Given the description of an element on the screen output the (x, y) to click on. 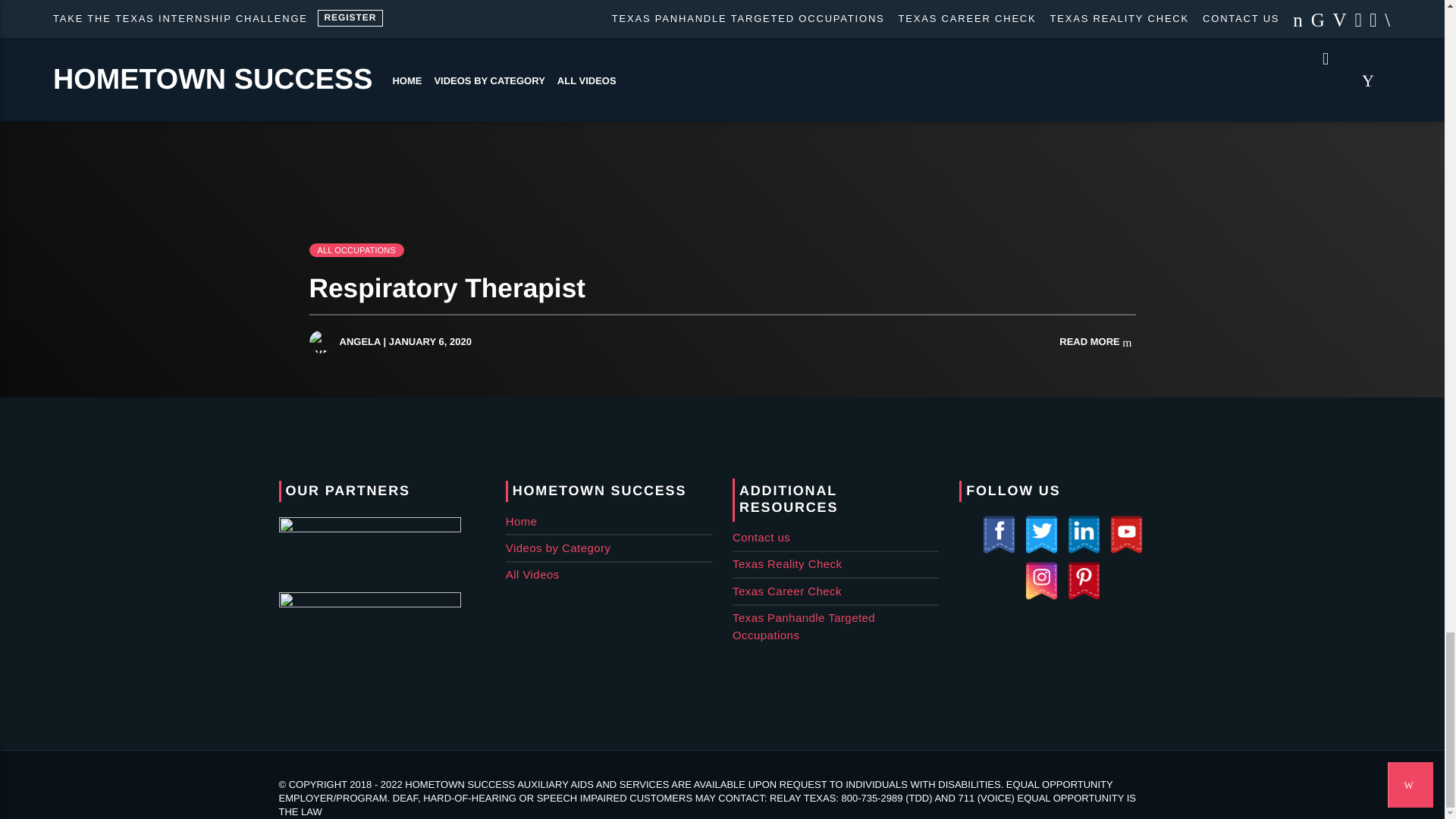
Visit Us On Facebook (998, 550)
Visit Us On Pinterest (1083, 596)
Visit Us On Youtube (1126, 550)
Visit Us On Linkedin (1083, 550)
Visit Us On Twitter (1041, 550)
Visit Us On Instagram (1041, 596)
